Given the description of an element on the screen output the (x, y) to click on. 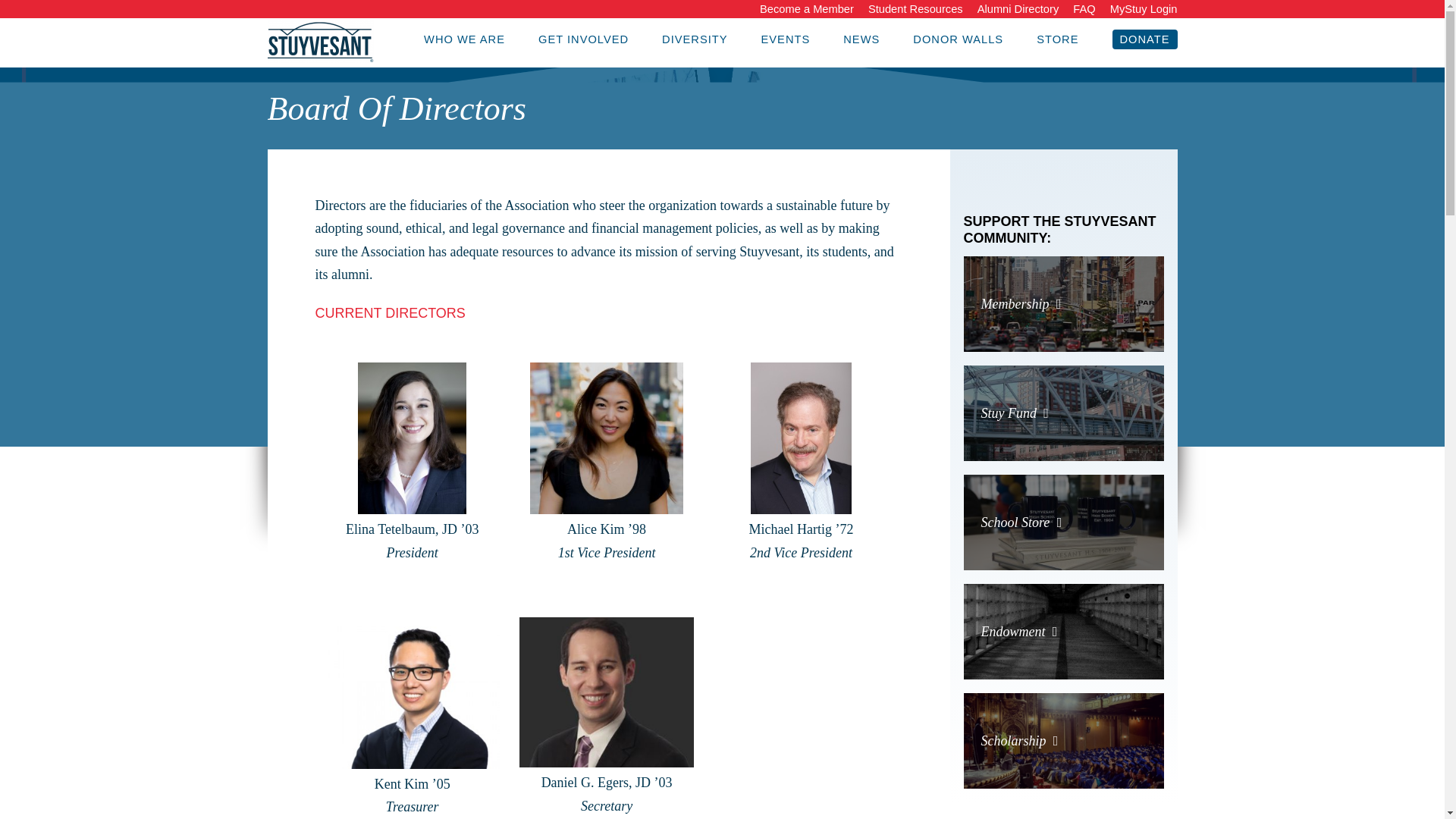
Become a Member (806, 9)
GET INVOLVED (583, 39)
Alumni Directory (1017, 9)
MyStuy Login (1143, 9)
Student Resources (914, 9)
WHO WE ARE (464, 39)
DIVERSITY (694, 39)
FAQ (1083, 9)
NEWS (861, 39)
EVENTS (785, 39)
